Given the description of an element on the screen output the (x, y) to click on. 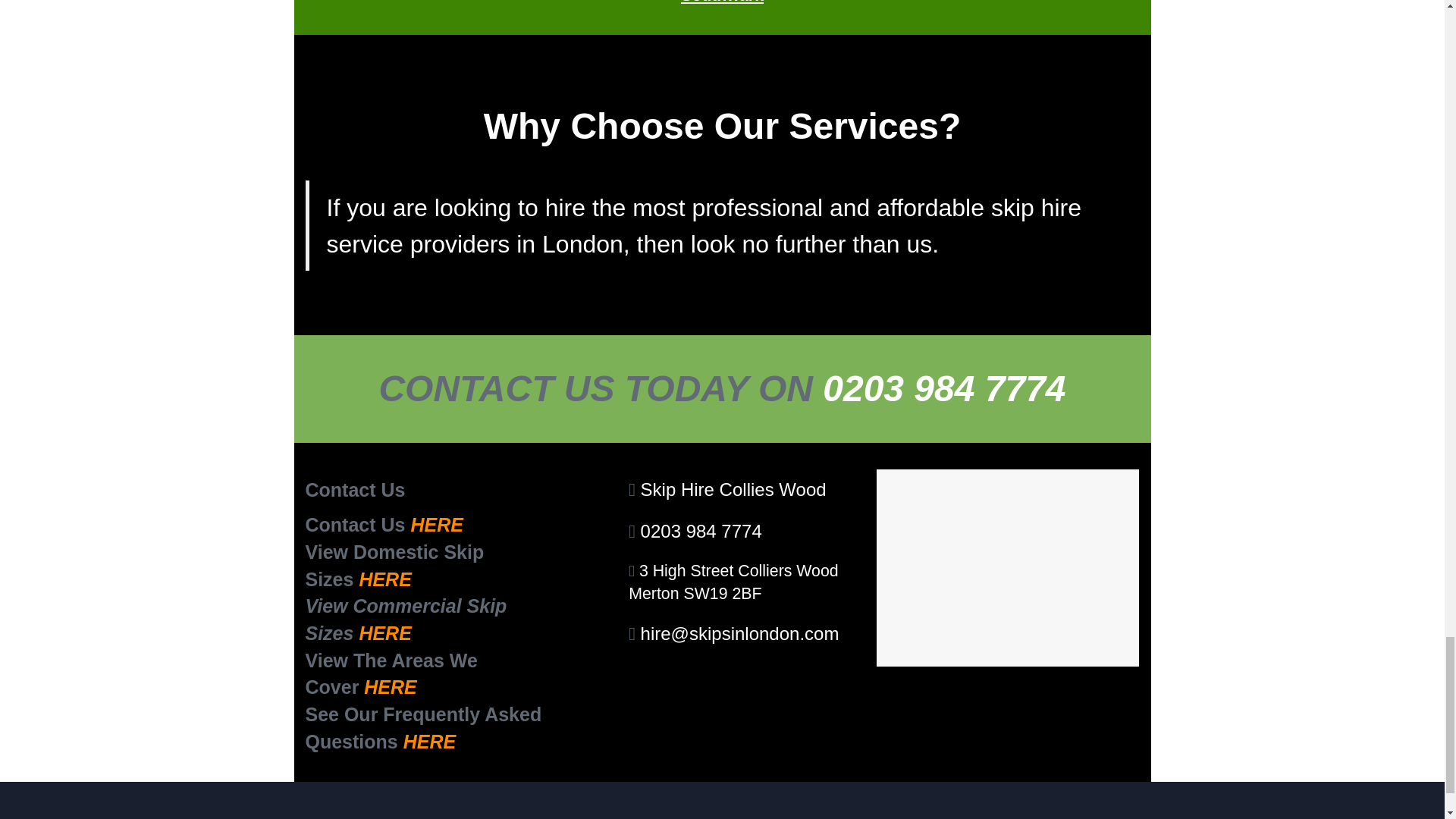
HERE (390, 686)
0203 984 7774 (700, 530)
HERE (429, 741)
HERE (384, 578)
HERE (384, 632)
HERE (436, 524)
0203 984 7774 (943, 388)
